Given the description of an element on the screen output the (x, y) to click on. 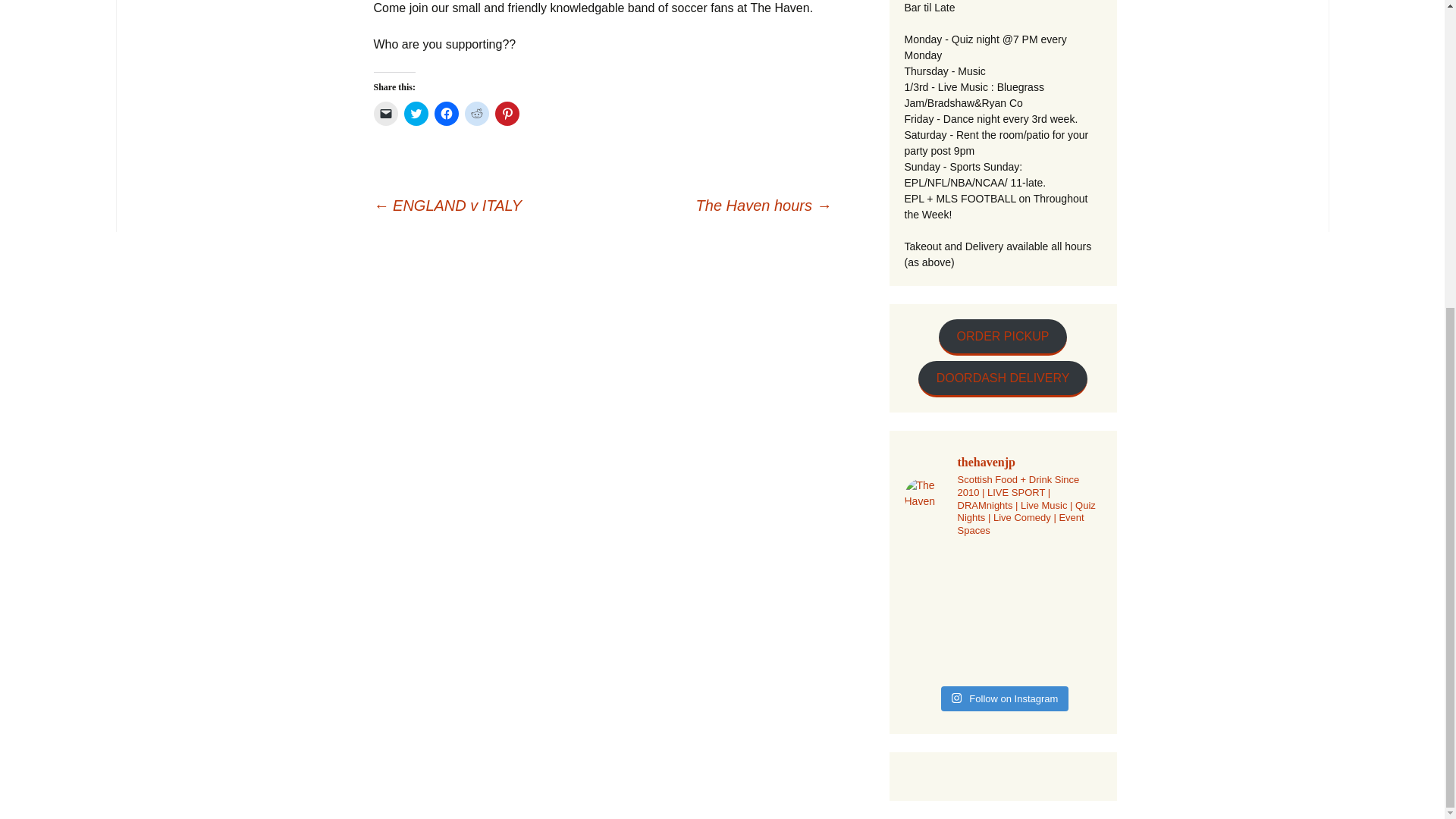
Click to share on Pinterest (506, 113)
ORDER PICKUP (1003, 337)
Click to share on Facebook (445, 113)
Click to email a link to a friend (384, 113)
Click to share on Reddit (475, 113)
DOORDASH DELIVERY (1002, 379)
Follow on Instagram (1004, 698)
Click to share on Twitter (415, 113)
